Given the description of an element on the screen output the (x, y) to click on. 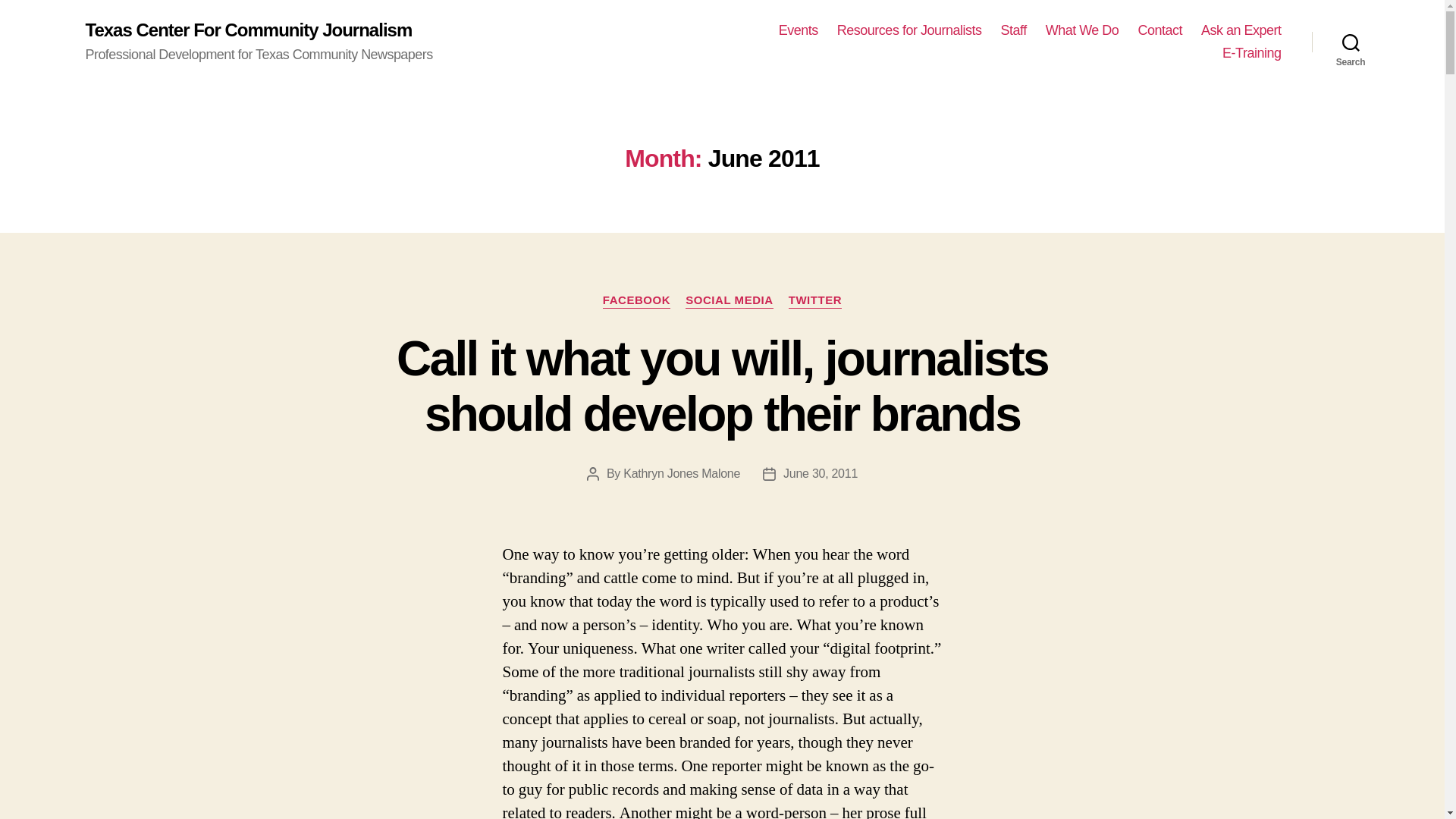
FACEBOOK (635, 300)
Texas Center For Community Journalism (248, 30)
Resources for Journalists (909, 30)
Contact (1159, 30)
Staff (1013, 30)
What We Do (1082, 30)
SOCIAL MEDIA (729, 300)
June 30, 2011 (820, 472)
E-Training (1252, 53)
TWITTER (816, 300)
